Given the description of an element on the screen output the (x, y) to click on. 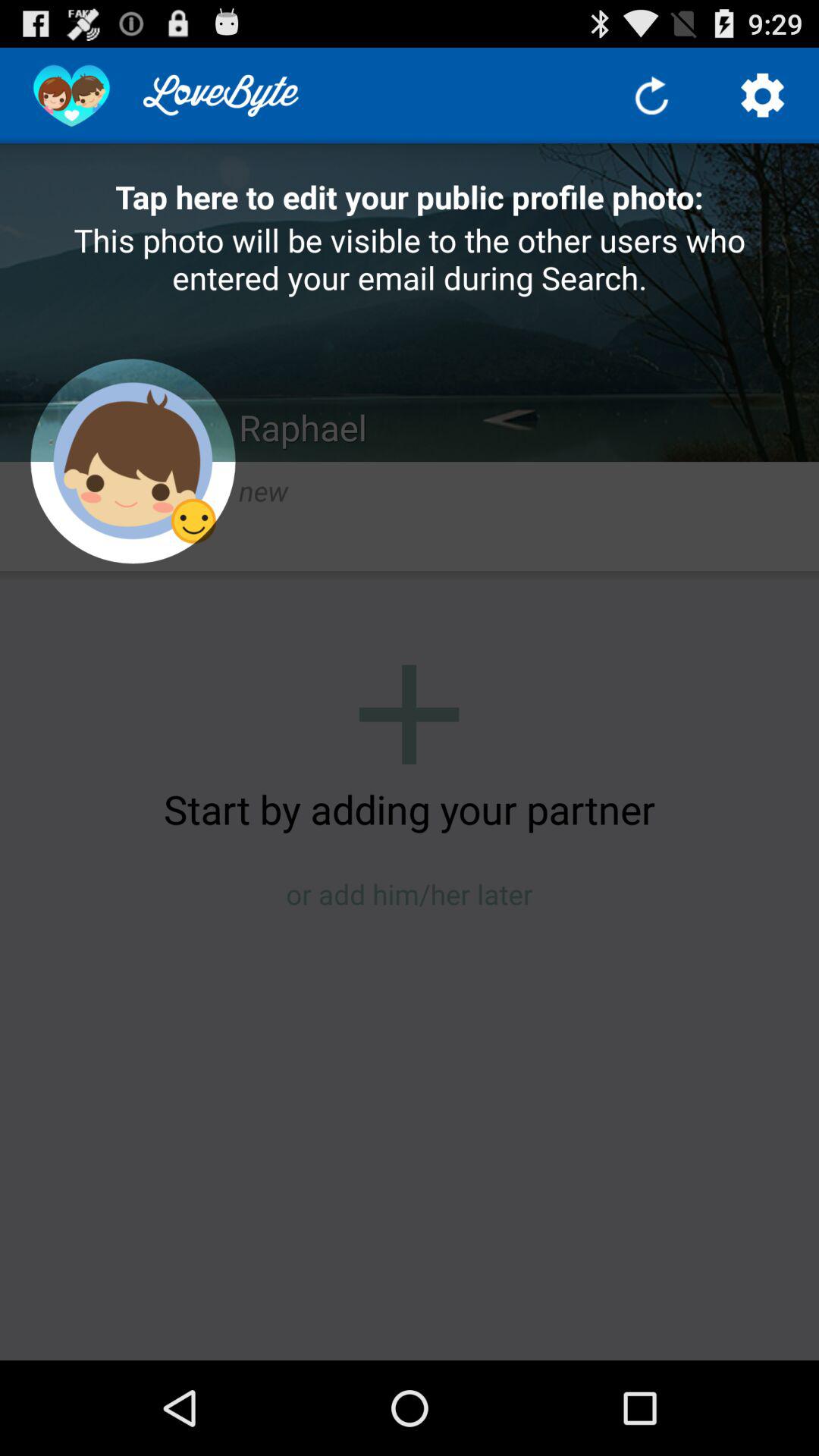
press the app above start by adding icon (408, 714)
